Given the description of an element on the screen output the (x, y) to click on. 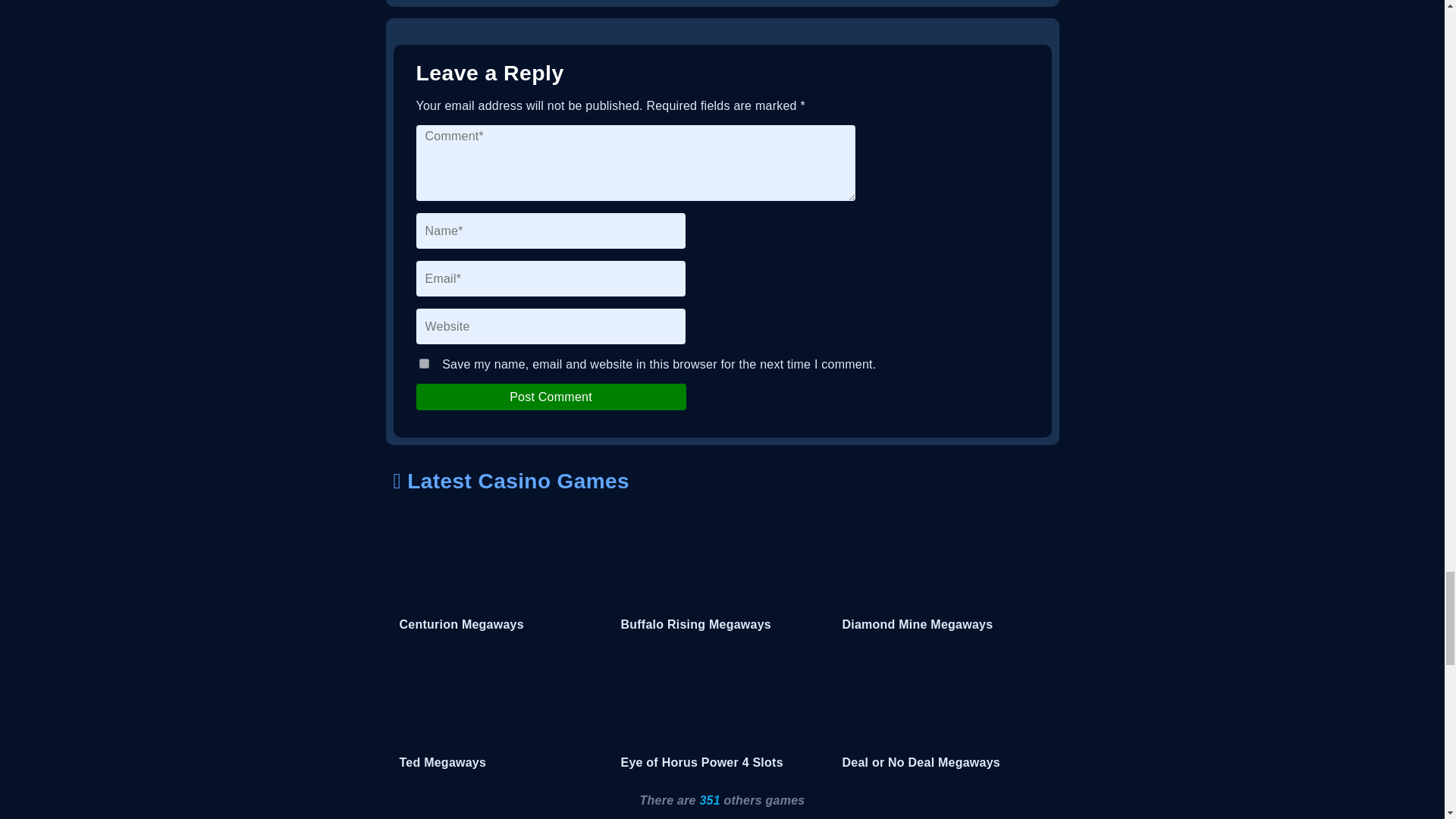
Read review of Buffalo Rising Megaways (721, 572)
Read review of Deal or No Deal Megaways (943, 709)
Read review of Diamond Mine Megaways (943, 572)
Post Comment (549, 397)
Read review of Centurion Megaways (500, 572)
Read review of Ted Megaways (500, 709)
Read review of Eye of Horus Power 4 Slots (721, 709)
yes (423, 363)
